Given the description of an element on the screen output the (x, y) to click on. 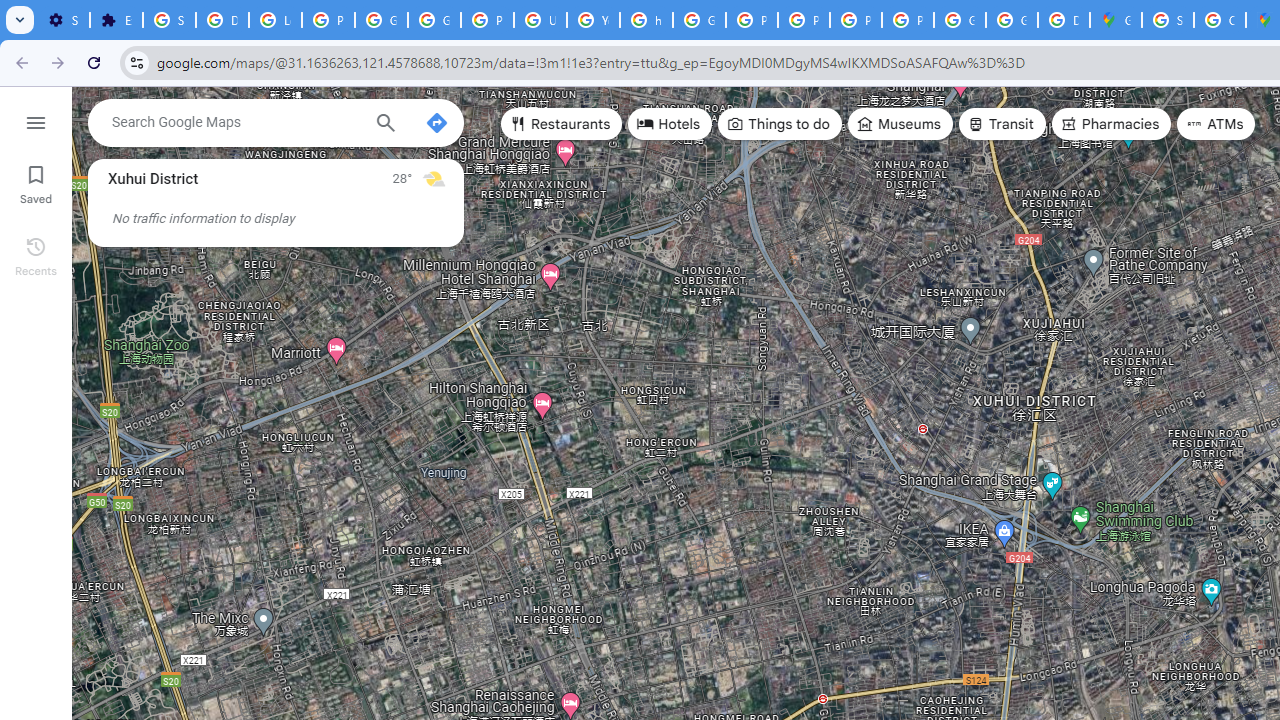
Directions (436, 122)
Google Account Help (434, 20)
Sign in - Google Accounts (1167, 20)
Transit (1001, 124)
Settings - On startup (63, 20)
Restaurants (561, 124)
Sign in - Google Accounts (169, 20)
Learn how to find your photos - Google Photos Help (275, 20)
ATMs (1216, 124)
Google Account Help (381, 20)
